Given the description of an element on the screen output the (x, y) to click on. 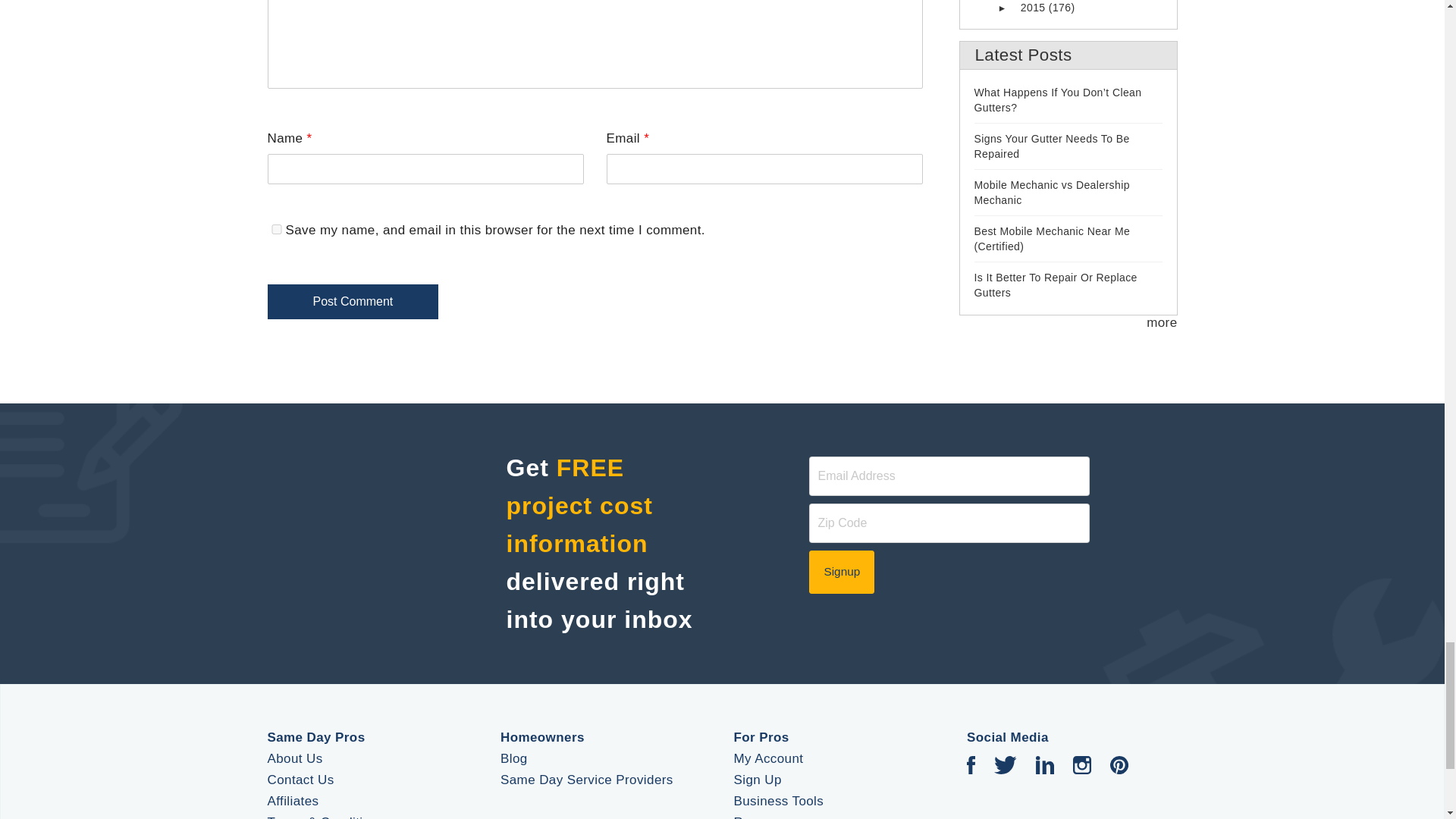
Post Comment (352, 301)
Signup (842, 571)
yes (276, 229)
Post Comment (352, 301)
